Given the description of an element on the screen output the (x, y) to click on. 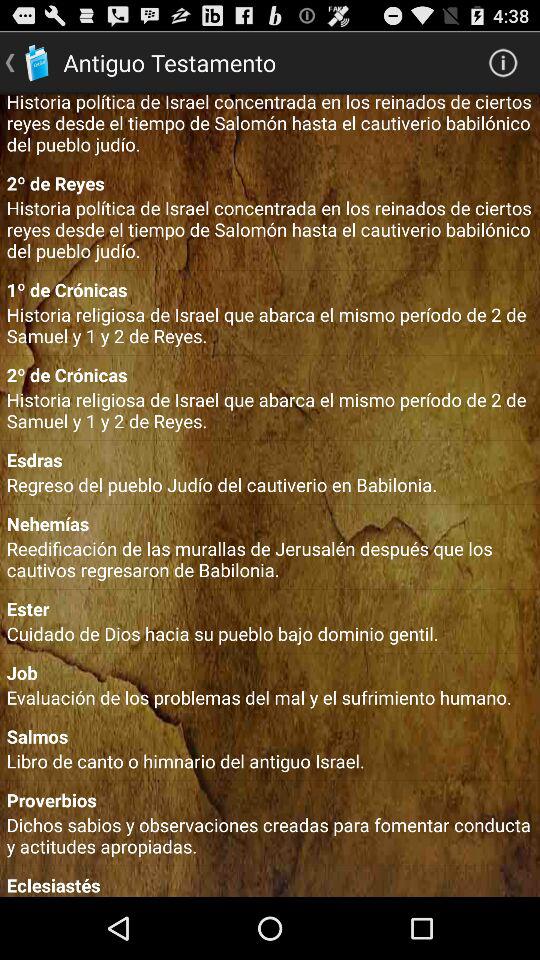
click the app below dichos sabios y item (269, 884)
